Given the description of an element on the screen output the (x, y) to click on. 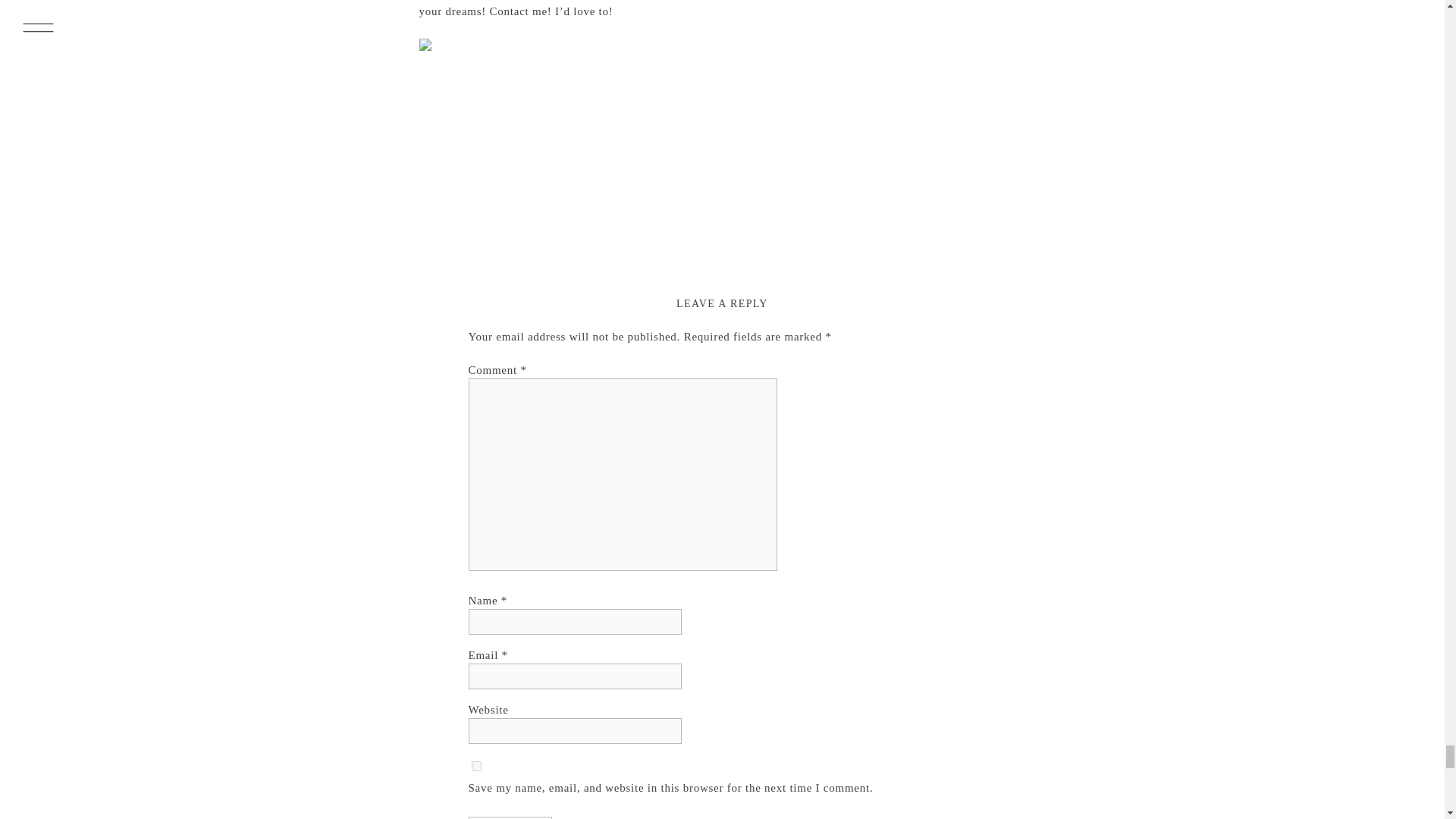
Post Comment (510, 817)
Post Comment (510, 817)
yes (476, 766)
